Given the description of an element on the screen output the (x, y) to click on. 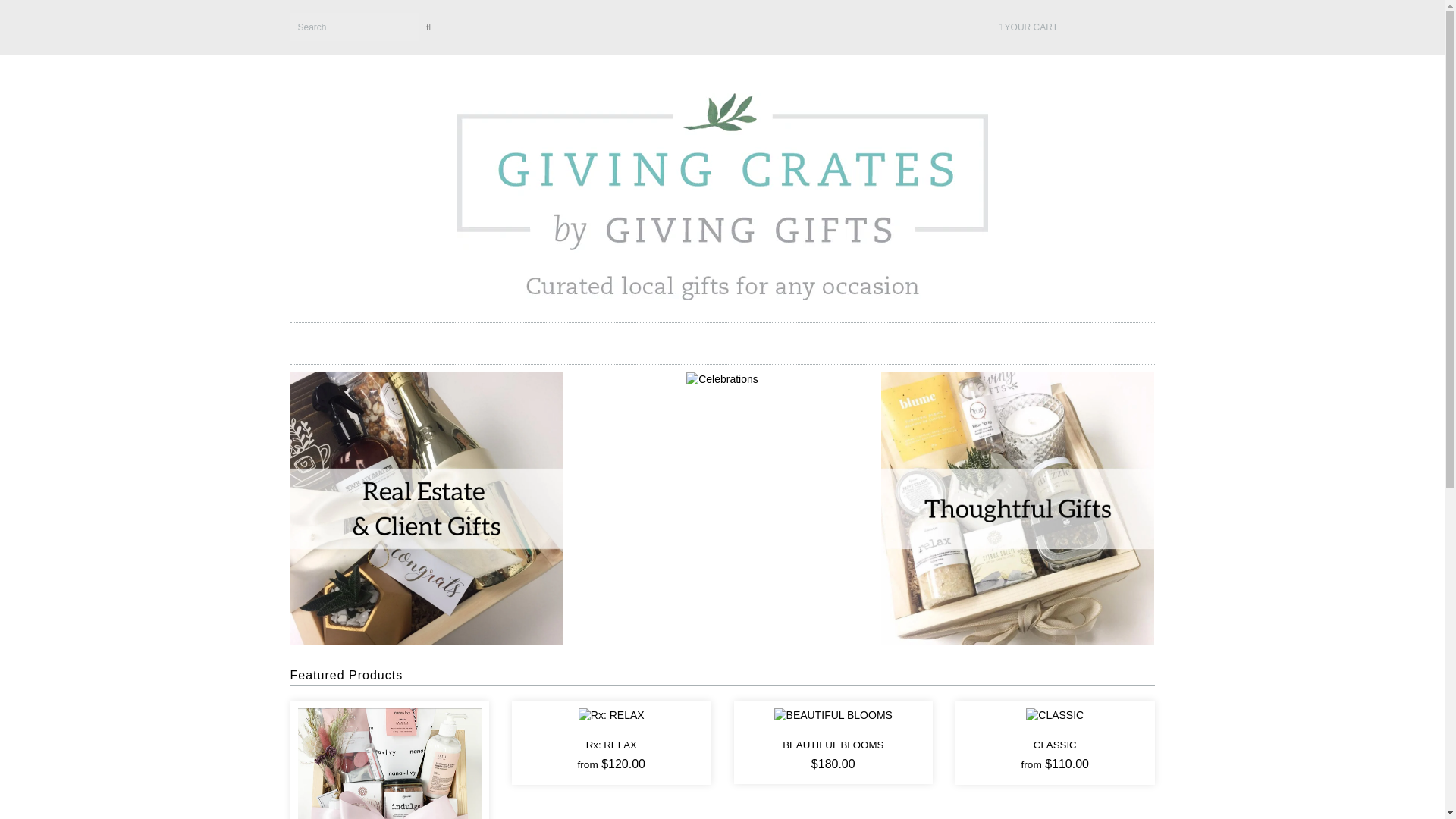
BEAUTIFUL BLOOMS (833, 715)
Search (354, 26)
CLASSIC (1054, 715)
PRETTY IN PINK (389, 799)
Home (722, 192)
YOUR CART (1039, 27)
Rx: RELAX (611, 715)
